Given the description of an element on the screen output the (x, y) to click on. 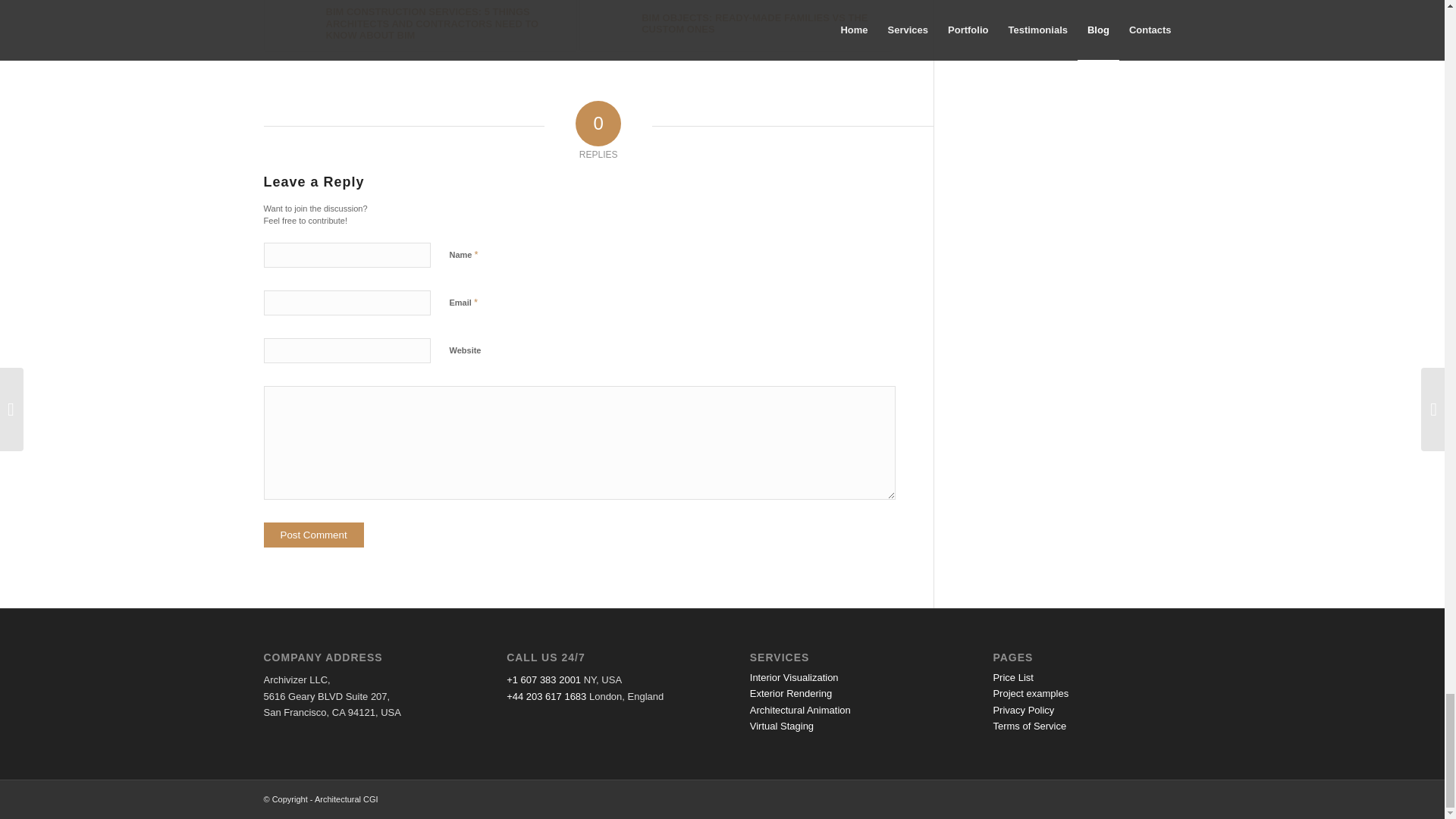
BIM OBJECTS: READY-MADE FAMILIES VS THE CUSTOM ONES (736, 25)
Post Comment (313, 534)
Post Comment (313, 534)
